Given the description of an element on the screen output the (x, y) to click on. 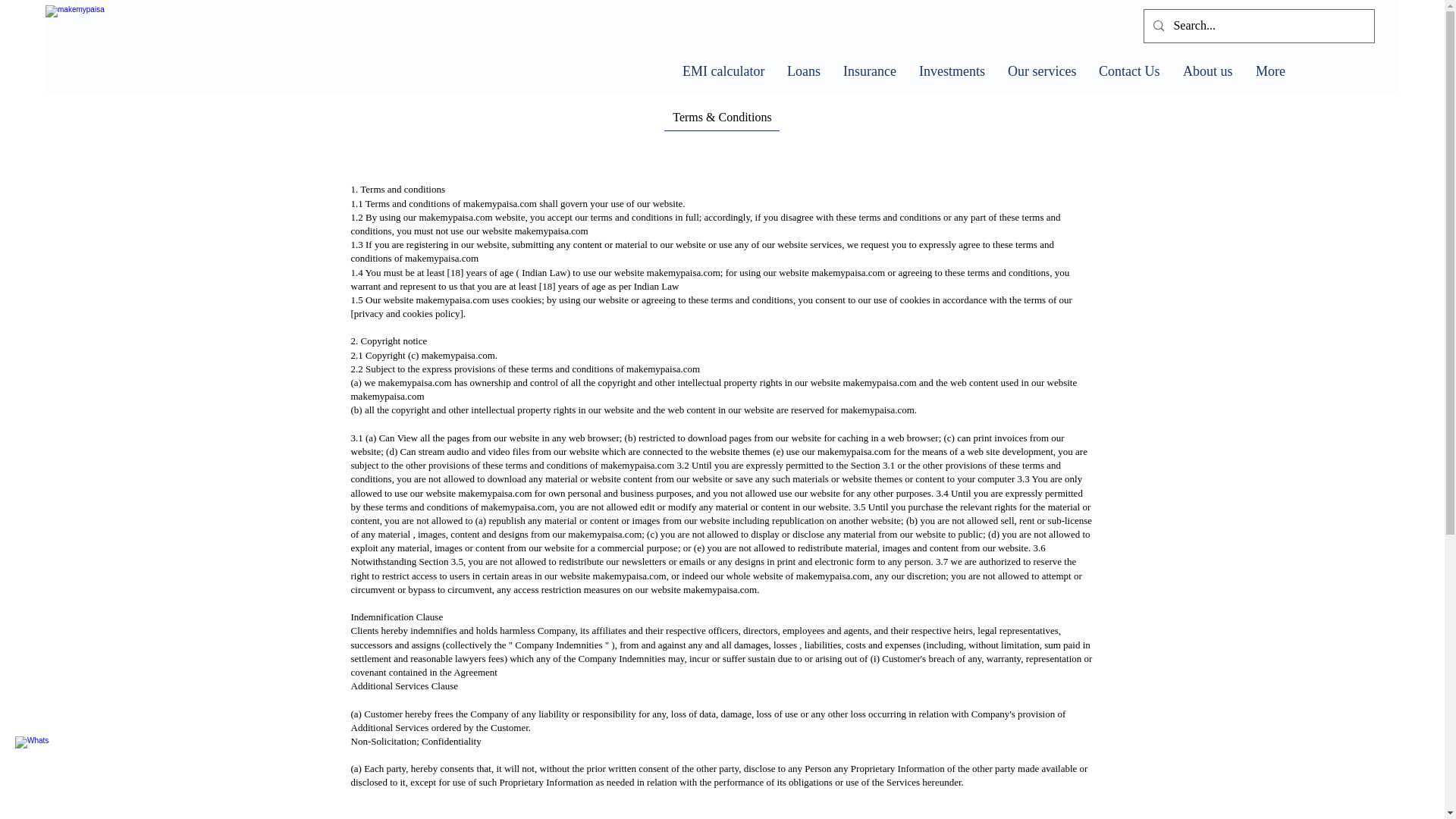
Insurance (869, 71)
Contact Us (1129, 71)
Loans (803, 71)
About us (1208, 71)
EMI calculator (723, 71)
Investments (951, 71)
